Given the description of an element on the screen output the (x, y) to click on. 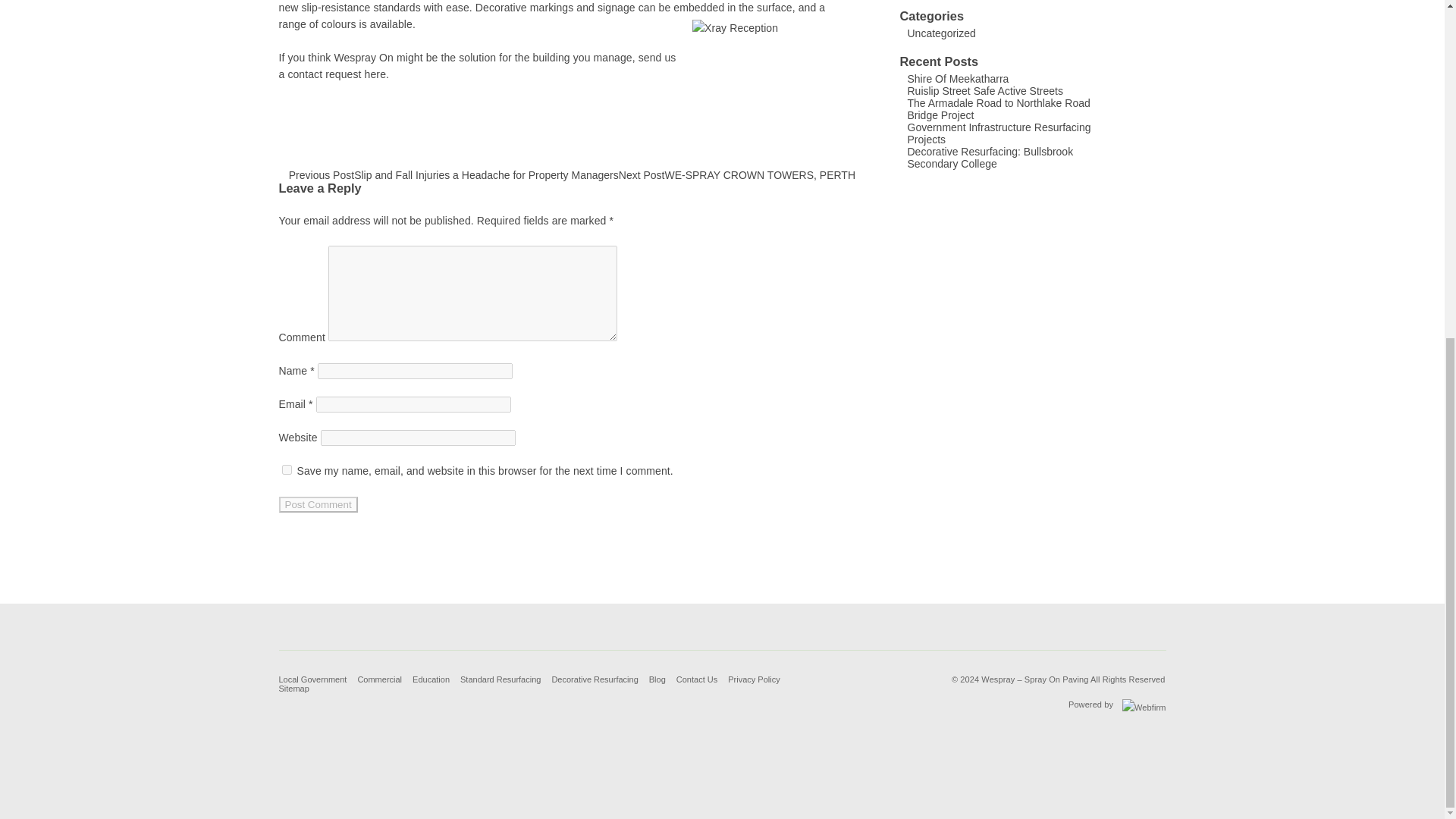
yes (287, 470)
Next PostWE-SPRAY CROWN TOWERS, PERTH (737, 174)
here (375, 73)
Post Comment (318, 504)
Post Comment (318, 504)
